Given the description of an element on the screen output the (x, y) to click on. 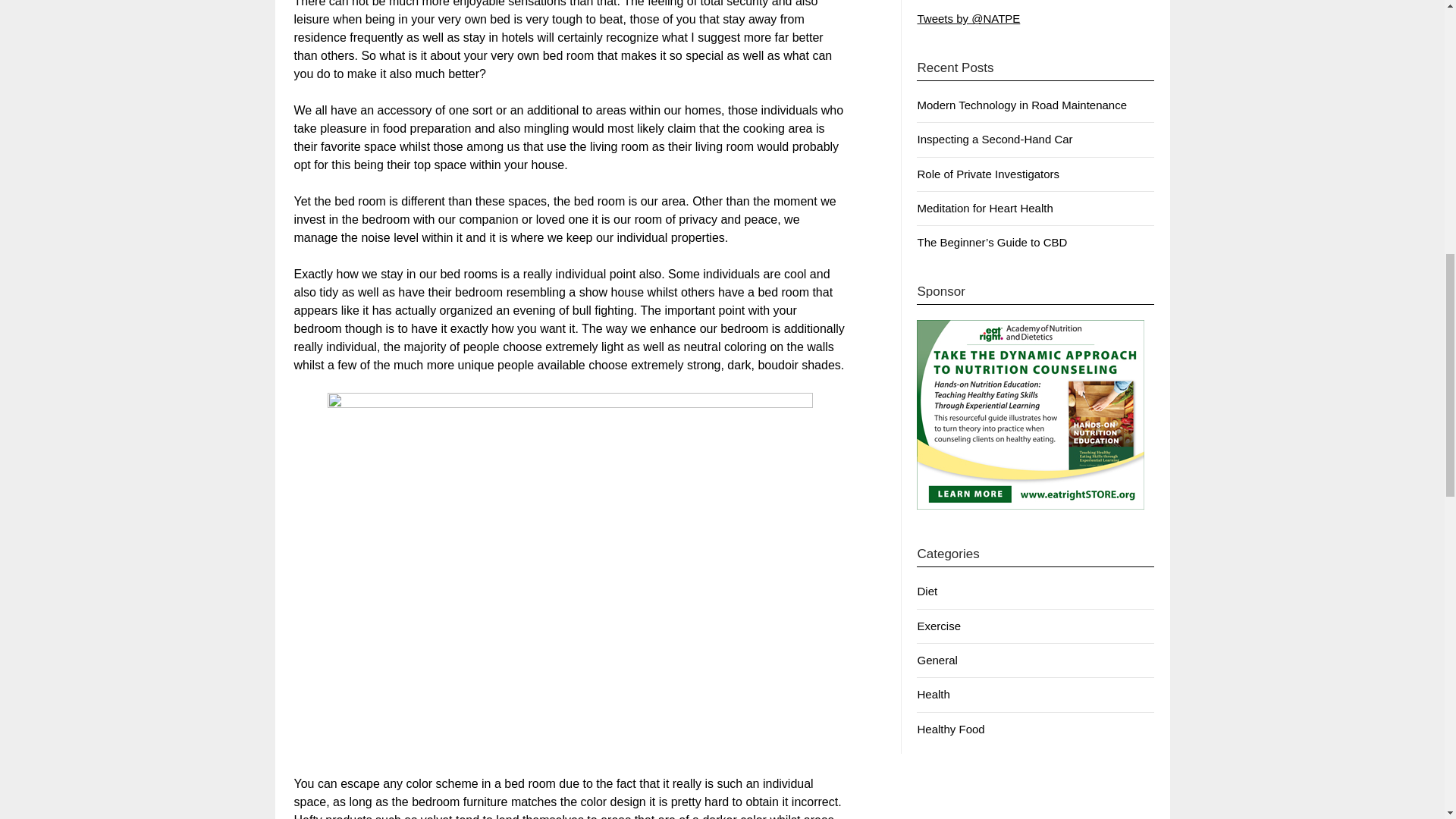
General (936, 659)
Health (933, 694)
Healthy Food (950, 728)
Inspecting a Second-Hand Car (994, 138)
Meditation for Heart Health (984, 207)
Exercise (938, 625)
Role of Private Investigators (988, 173)
Modern Technology in Road Maintenance (1021, 104)
Diet (927, 590)
